Given the description of an element on the screen output the (x, y) to click on. 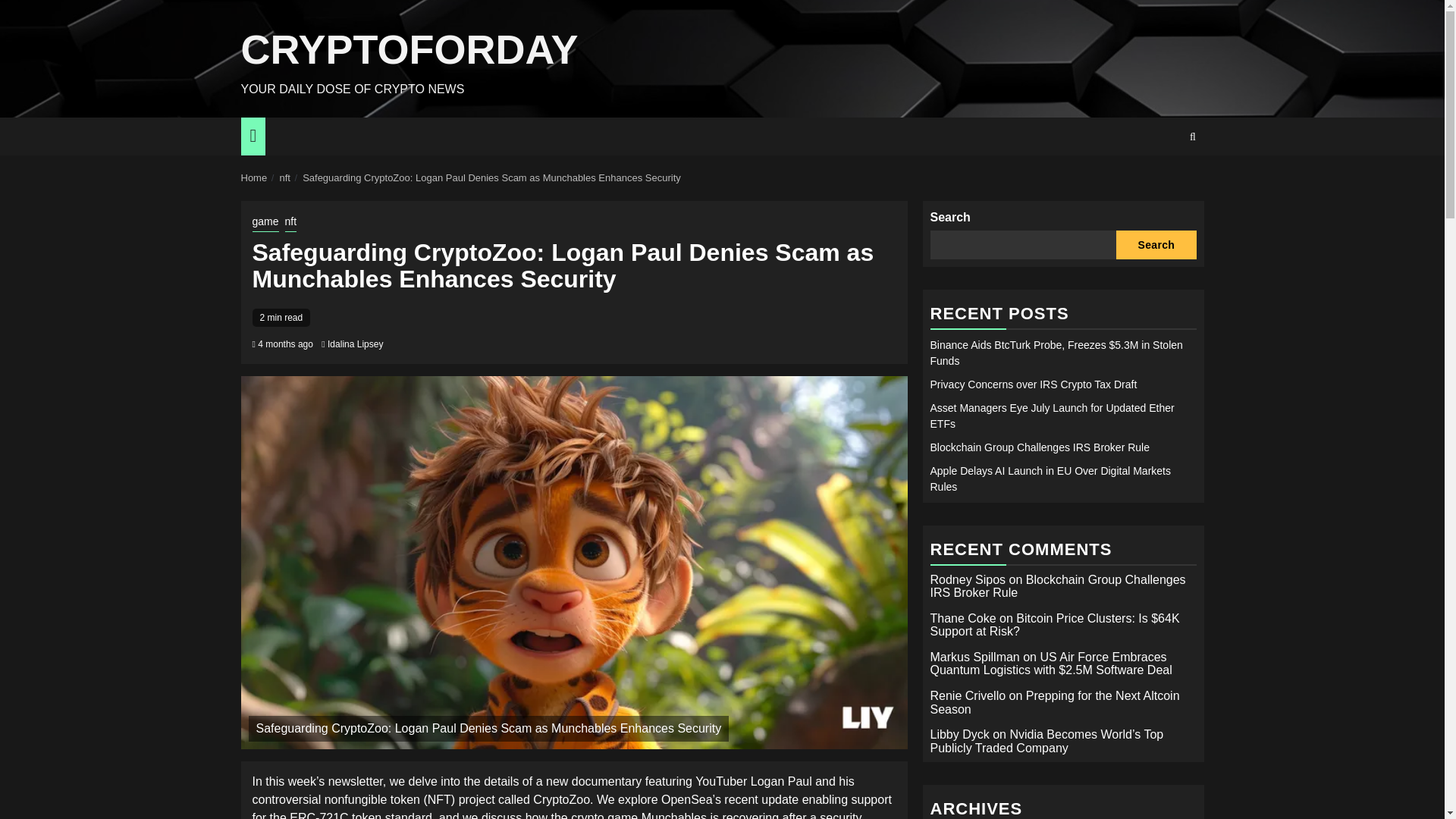
Home (254, 177)
game (264, 222)
Idalina Lipsey (354, 344)
nft (284, 177)
CRYPTOFORDAY (409, 49)
Search (1163, 182)
